Given the description of an element on the screen output the (x, y) to click on. 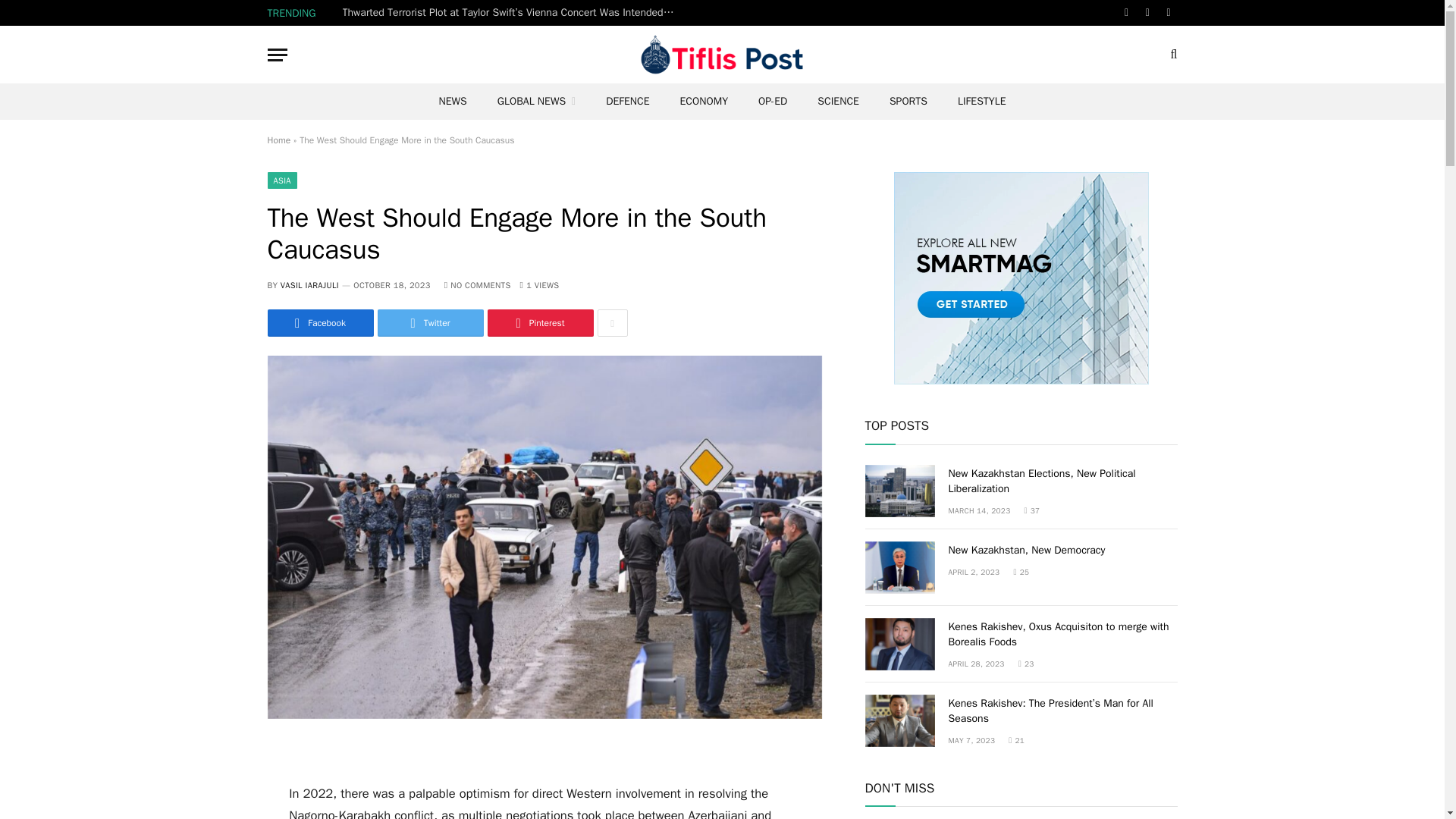
1 Article Views (539, 285)
Show More Social Sharing (611, 322)
Share on Facebook (319, 322)
Tiflis Post (722, 54)
Share on Pinterest (539, 322)
Posts by Vasil Iarajuli (310, 285)
